Given the description of an element on the screen output the (x, y) to click on. 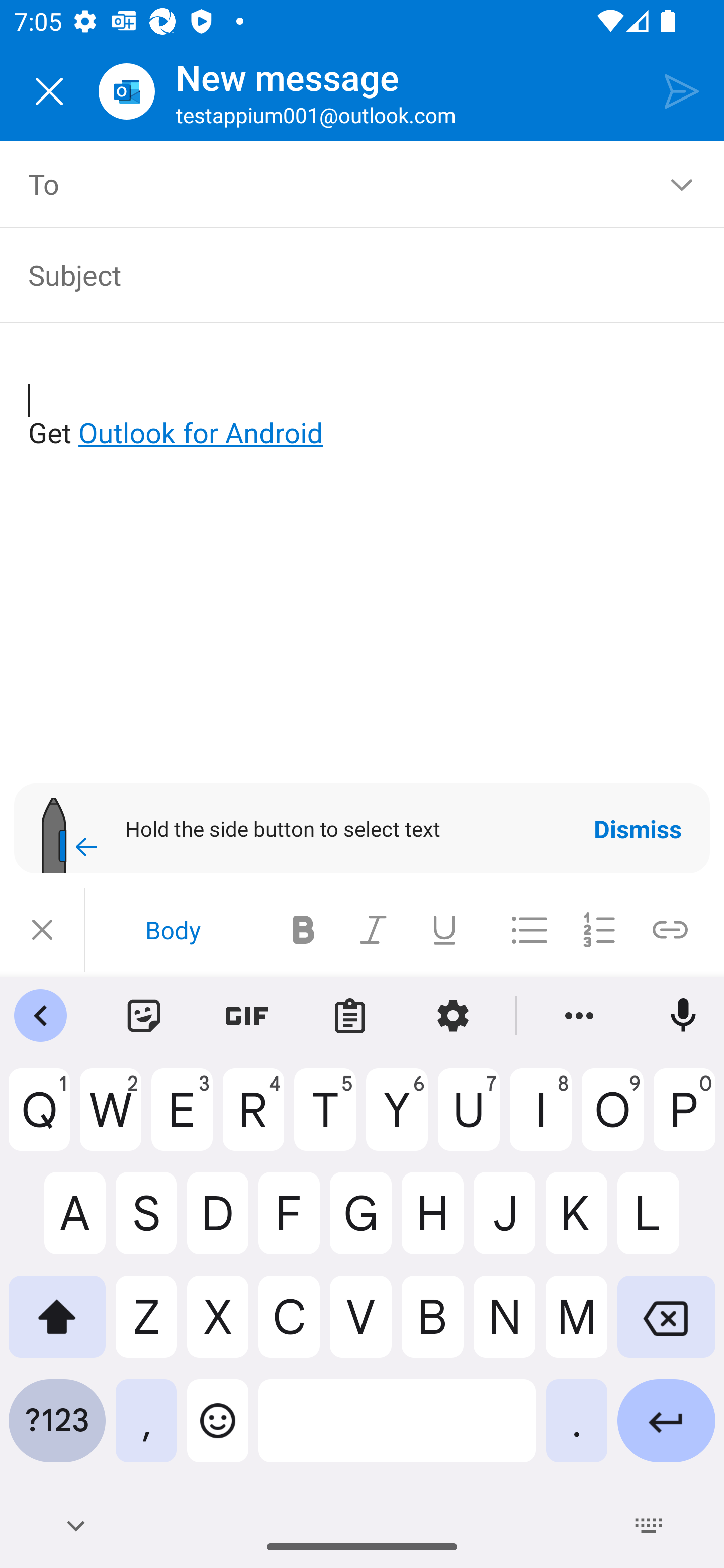
Close (49, 91)
Send (681, 90)
Subject (347, 274)


Get Outlook for Android (363, 400)
Dismiss (637, 828)
Close (42, 929)
Font style button body Body (172, 929)
Bold (303, 929)
Italics (374, 929)
Underline (444, 929)
Bulleted list (529, 929)
Numbered list (599, 929)
Add link (670, 929)
